Given the description of an element on the screen output the (x, y) to click on. 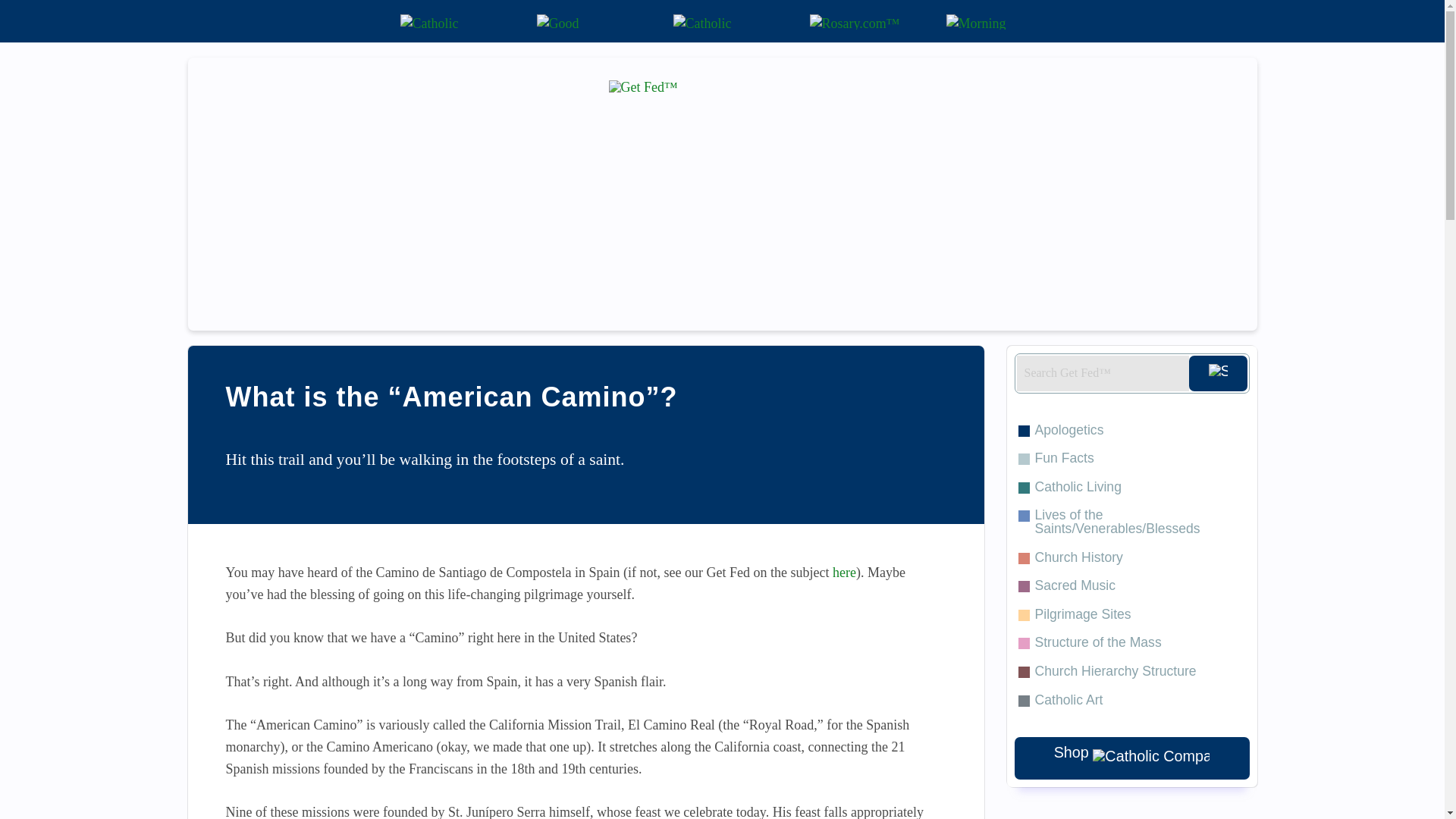
Catholic Art (1131, 700)
Structure of the Mass (1131, 642)
Pilgrimage Sites (1131, 614)
here (844, 572)
Church History (1131, 557)
Shop (1131, 758)
Fun Facts (1131, 458)
Church Hierarchy Structure (1131, 671)
Catholic Living (1131, 487)
Sacred Music (1131, 585)
